Given the description of an element on the screen output the (x, y) to click on. 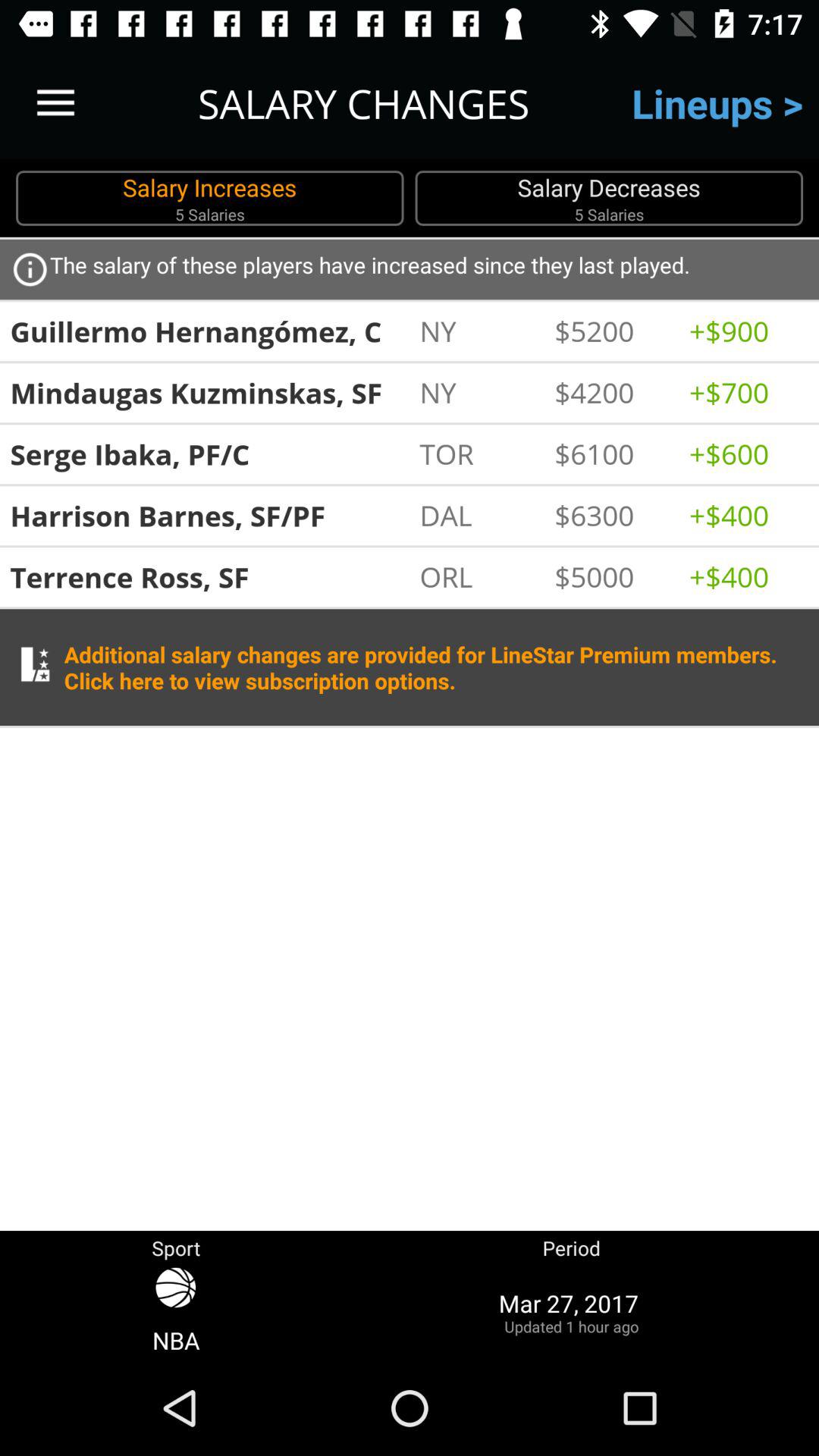
open icon next to the $6300 item (478, 515)
